Given the description of an element on the screen output the (x, y) to click on. 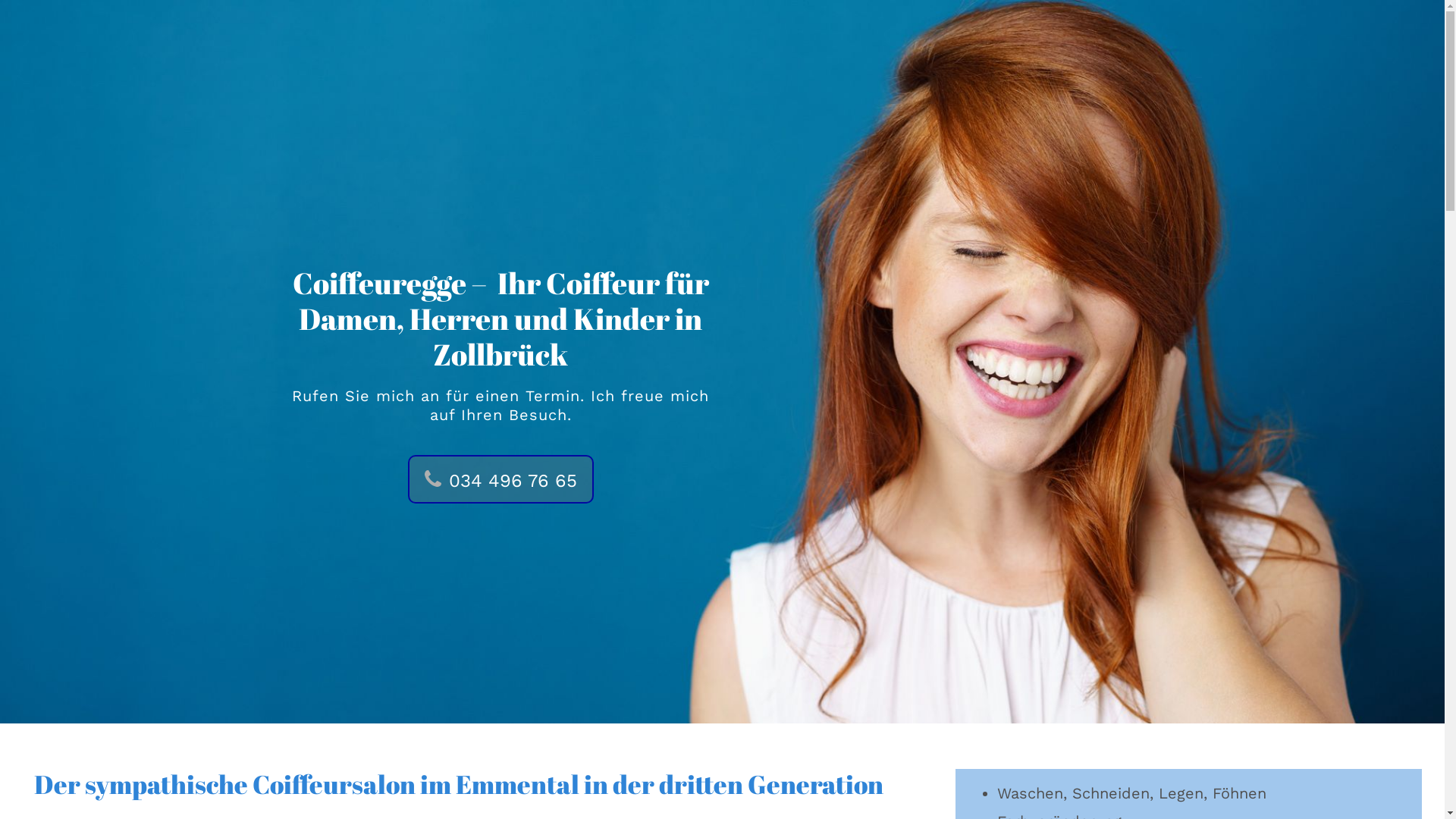
034 496 76 65 Element type: text (500, 479)
